Given the description of an element on the screen output the (x, y) to click on. 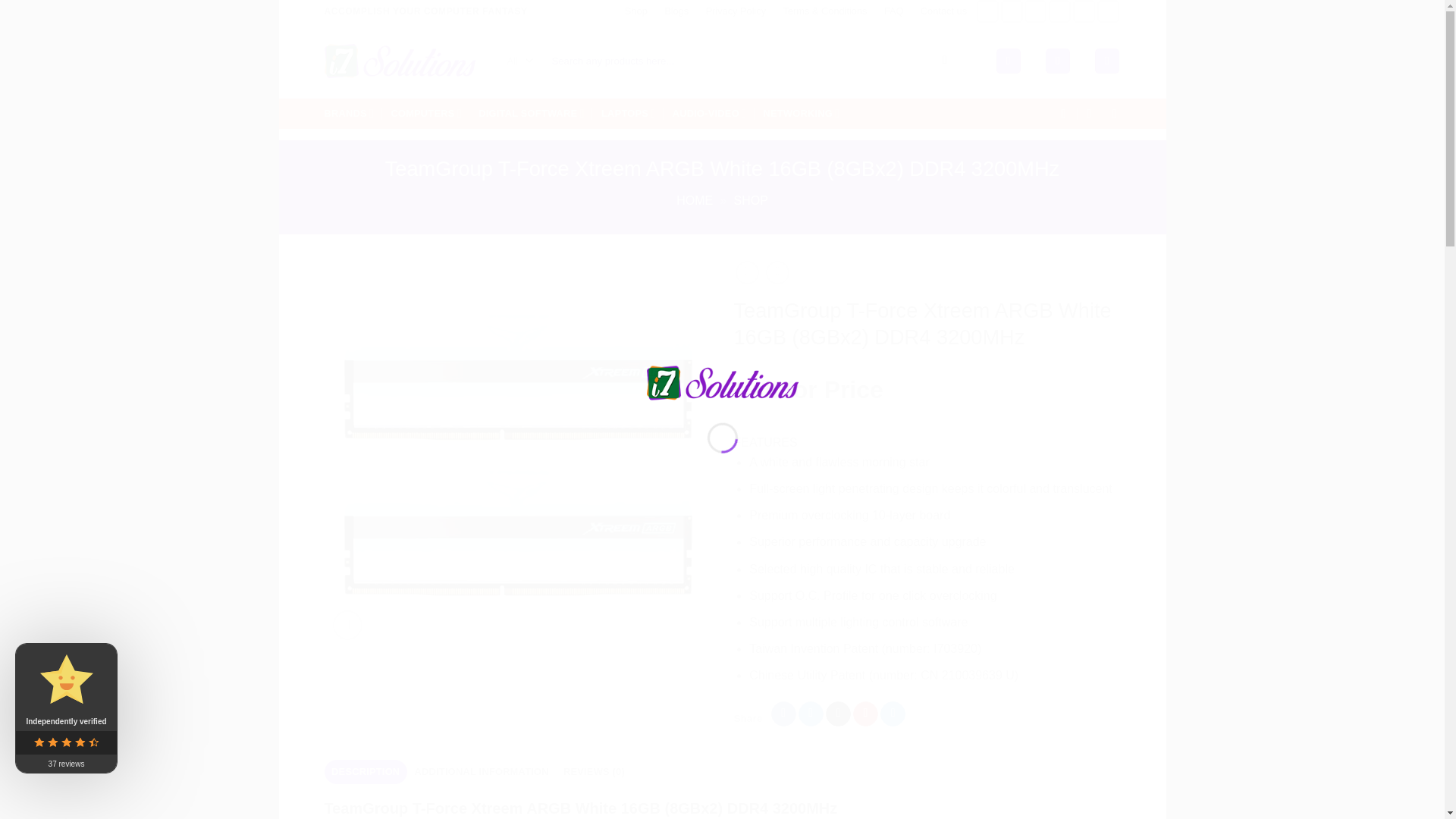
BRANDS (349, 112)
i7 Solutions - ACCOMPLISH YOUR COMPUTER FANTASY (400, 60)
i7 Solutions - ACCOMPLISH YOUR COMPUTER FANTASY (721, 381)
Blogs (675, 11)
Privacy Policy (736, 11)
Shop (635, 11)
